Given the description of an element on the screen output the (x, y) to click on. 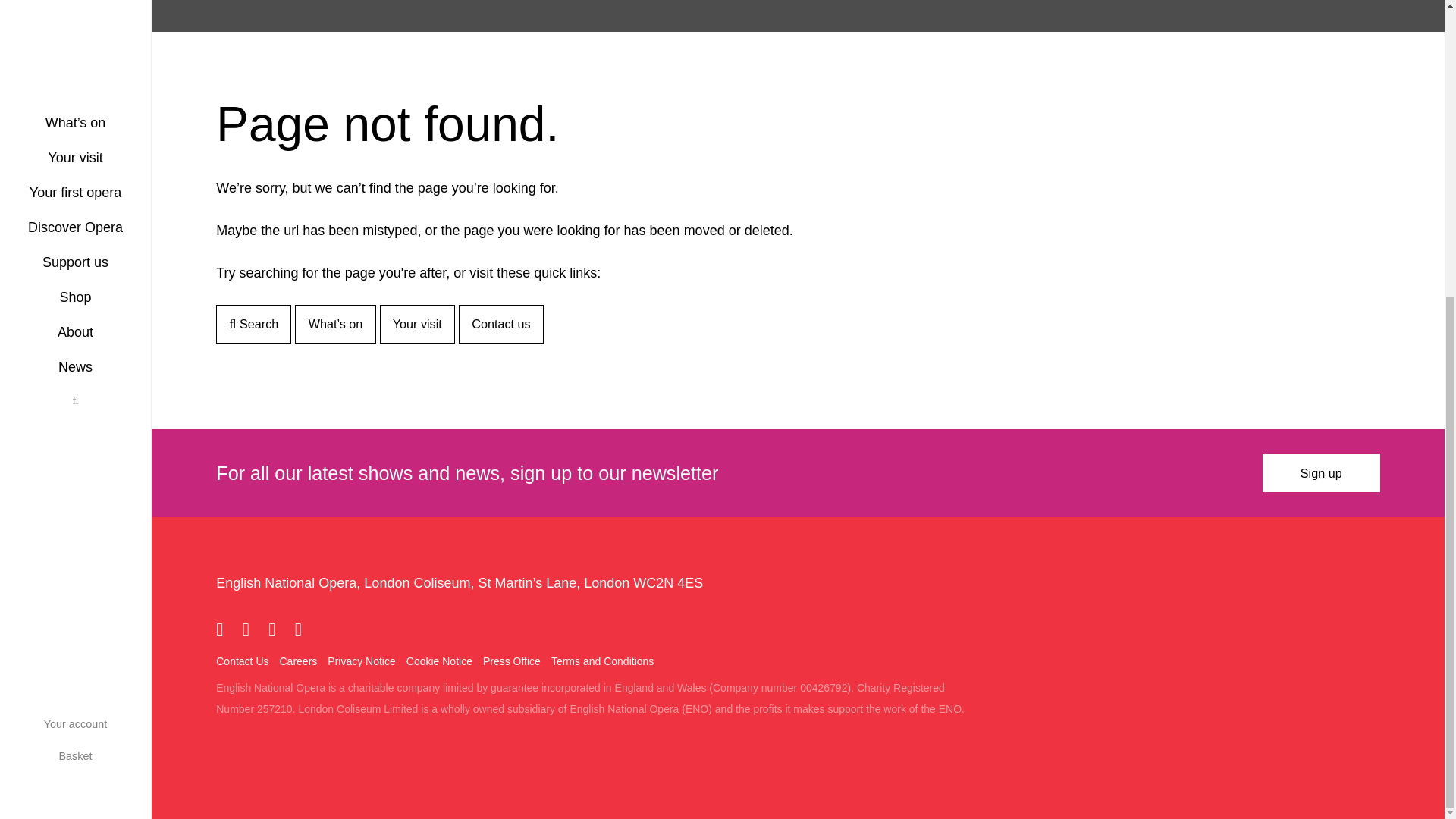
Book now (23, 441)
Find out more (17, 323)
Find out more (17, 163)
Your account (75, 264)
The Turn of the Screw (16, 46)
Book now (23, 642)
Find out more (23, 484)
Book now (17, 281)
Find out more (23, 684)
Book now (17, 121)
